Given the description of an element on the screen output the (x, y) to click on. 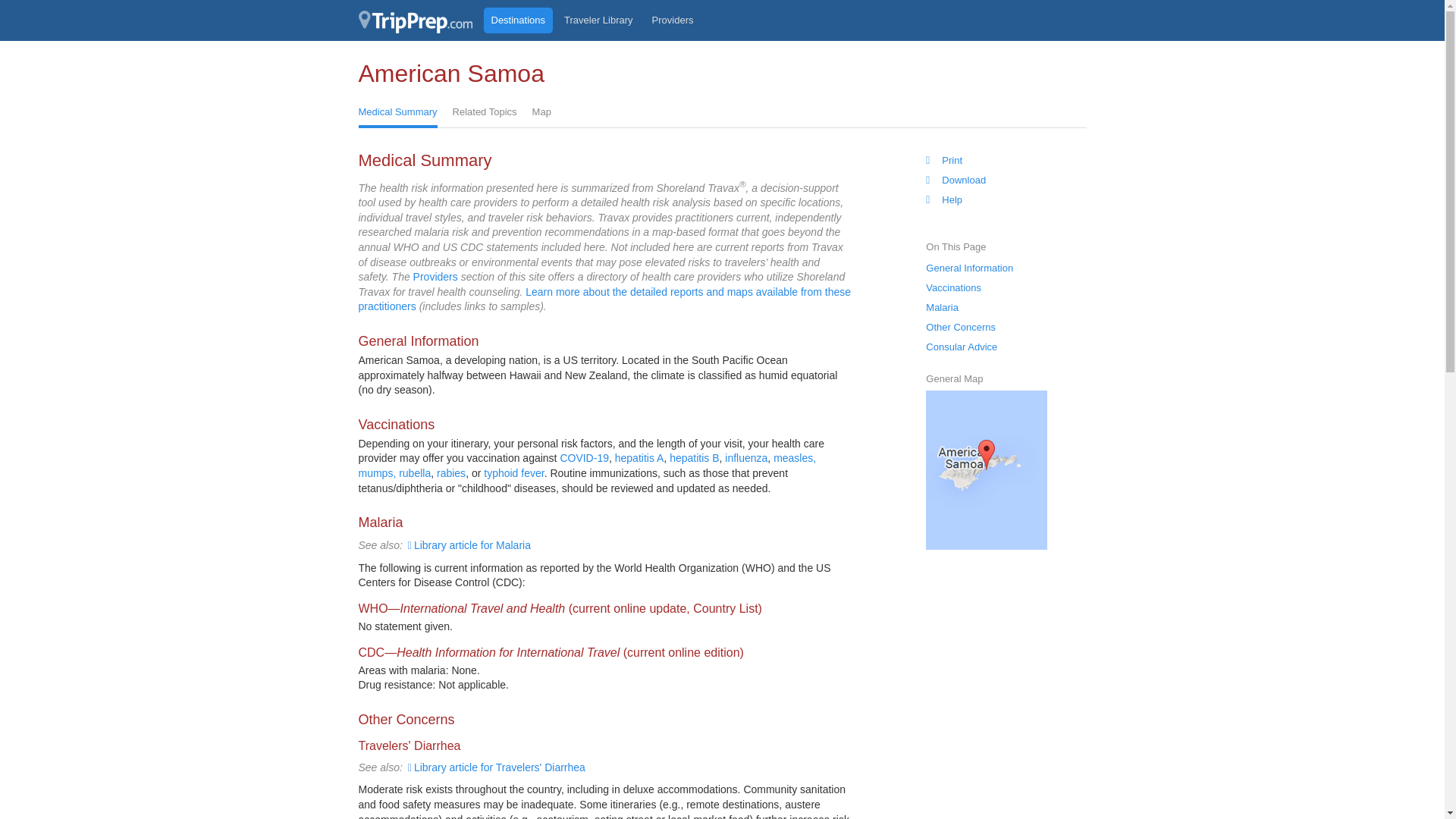
Providers (673, 20)
Consular Advice (961, 347)
Download (955, 180)
Vaccinations (953, 288)
Library article for Travelers' Diarrhea (495, 767)
General Information (969, 268)
rabies (450, 472)
Providers (435, 276)
Print (944, 160)
Traveler Library (598, 20)
Related Topics (484, 113)
hepatitis A (638, 458)
hepatitis B (694, 458)
influenza (746, 458)
